Given the description of an element on the screen output the (x, y) to click on. 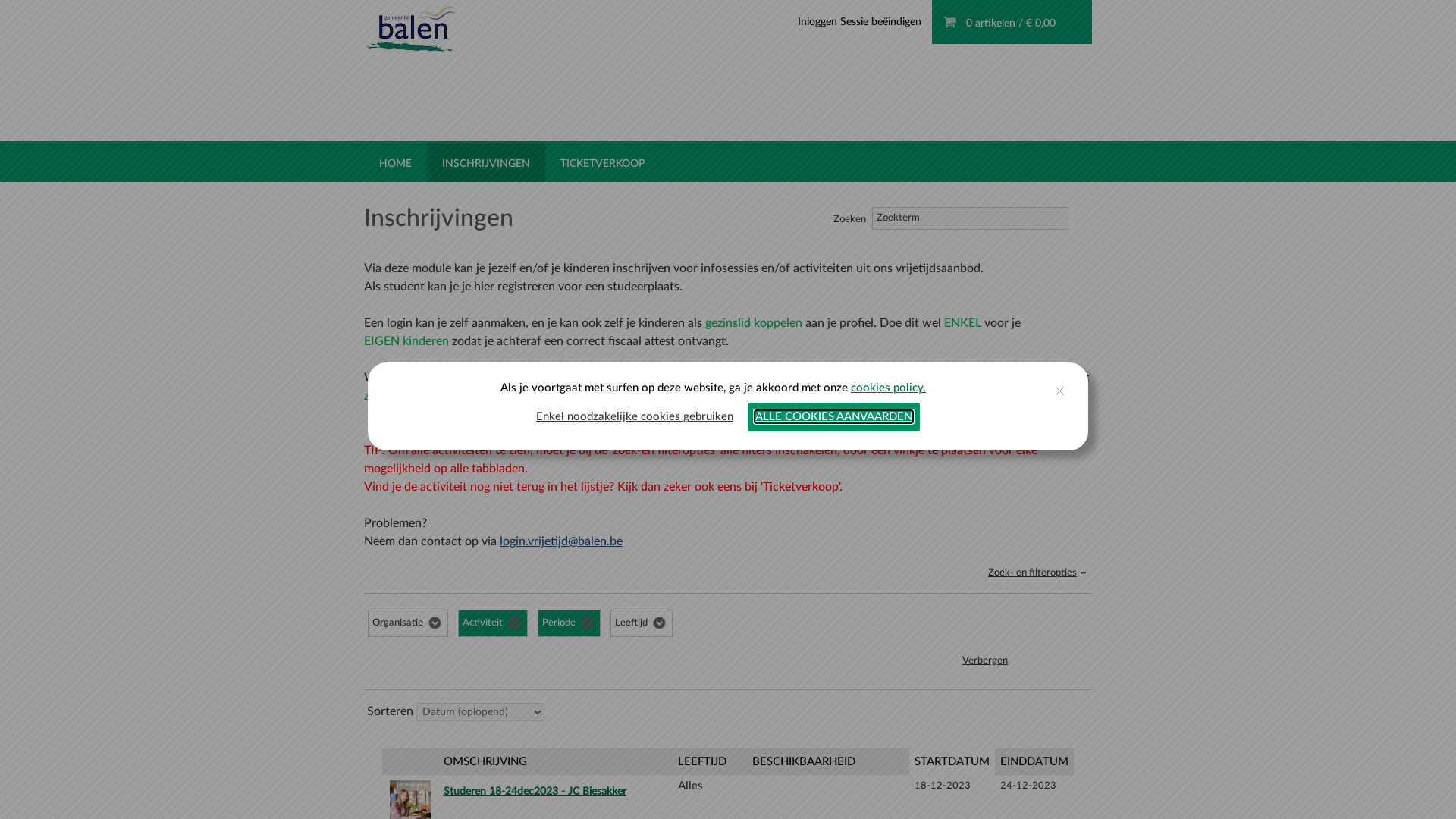
Zoekterm Element type: text (970, 218)
Zoek- en filteropties Element type: text (1038, 572)
Inloggen Element type: text (817, 21)
hier Element type: text (917, 377)
Zoeken Element type: text (1080, 218)
Periode Element type: text (568, 623)
Studeren 18-24dec2023 - JC Biesakker Element type: text (551, 788)
INSCHRIJVINGEN Element type: text (485, 163)
Leeftijd Element type: text (641, 623)
Enkel noodzakelijke cookies gebruiken Element type: text (634, 416)
Activiteit Element type: text (492, 623)
Organisatie Element type: text (407, 623)
cookies policy. Element type: text (887, 387)
login.vrijetijd@balen.be Element type: text (560, 541)
TICKETVERKOOP Element type: text (602, 155)
HOME Element type: text (395, 155)
Zoeken Element type: text (1055, 661)
Verbergen Element type: text (984, 666)
hier Element type: text (960, 395)
ALLE COOKIES AANVAARDEN Element type: text (833, 416)
